Given the description of an element on the screen output the (x, y) to click on. 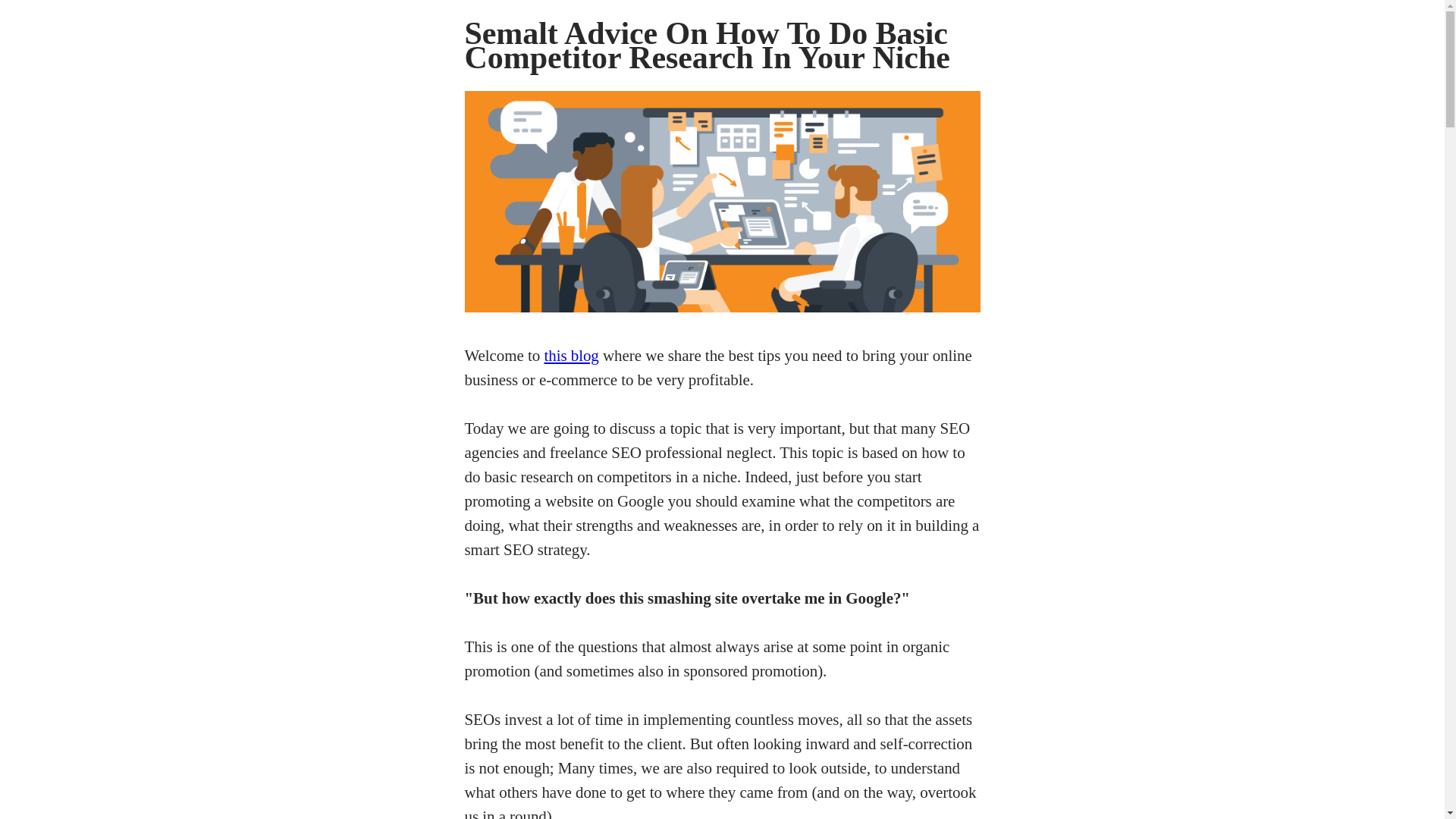
this blog (570, 355)
